Given the description of an element on the screen output the (x, y) to click on. 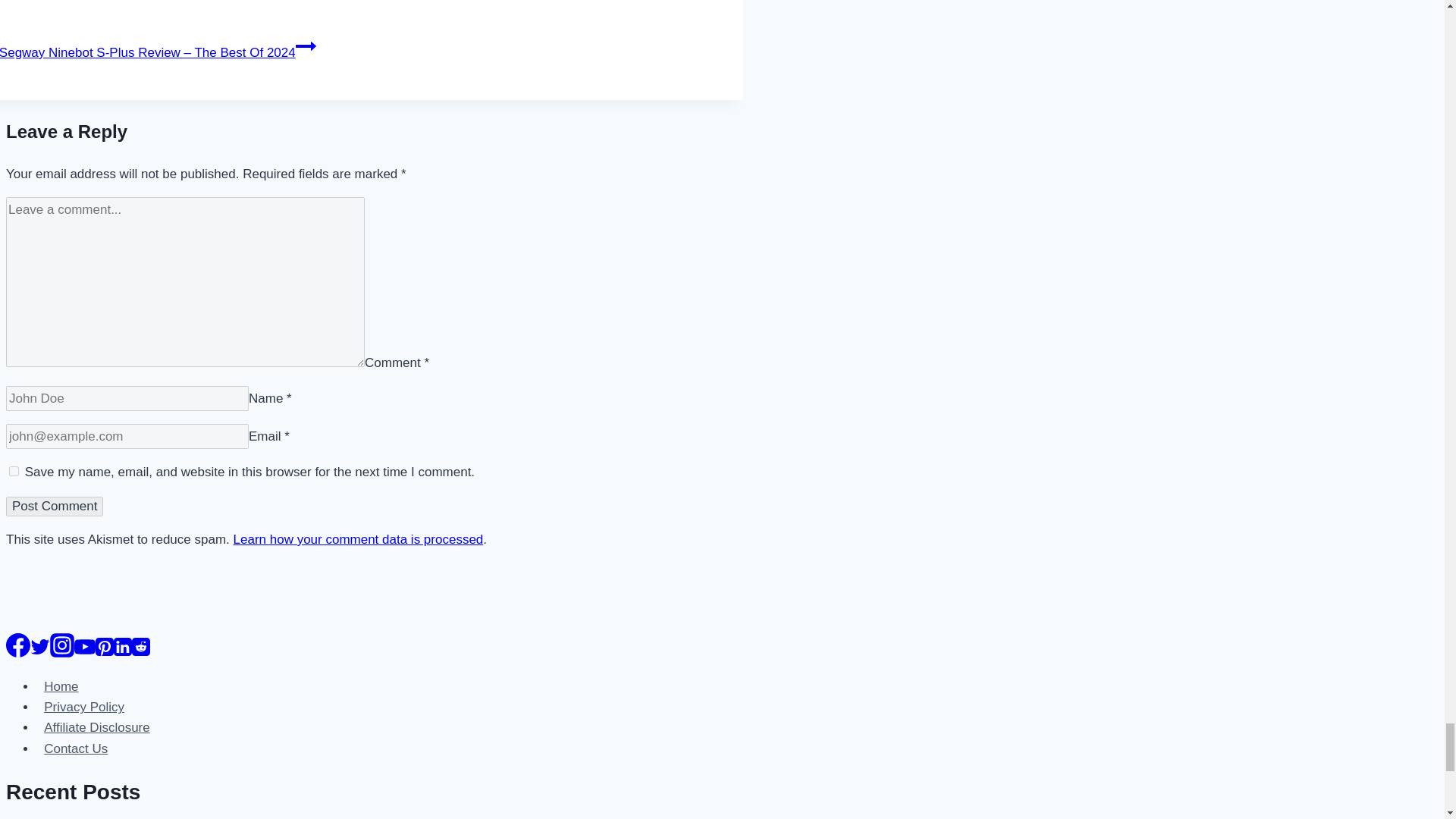
Instagram (61, 645)
Reddit (140, 646)
yes (13, 470)
YouTube (85, 646)
Twitter (39, 646)
Facebook (17, 645)
Linkedin (122, 646)
Pinterest (104, 646)
Continue (305, 46)
Post Comment (54, 506)
